Given the description of an element on the screen output the (x, y) to click on. 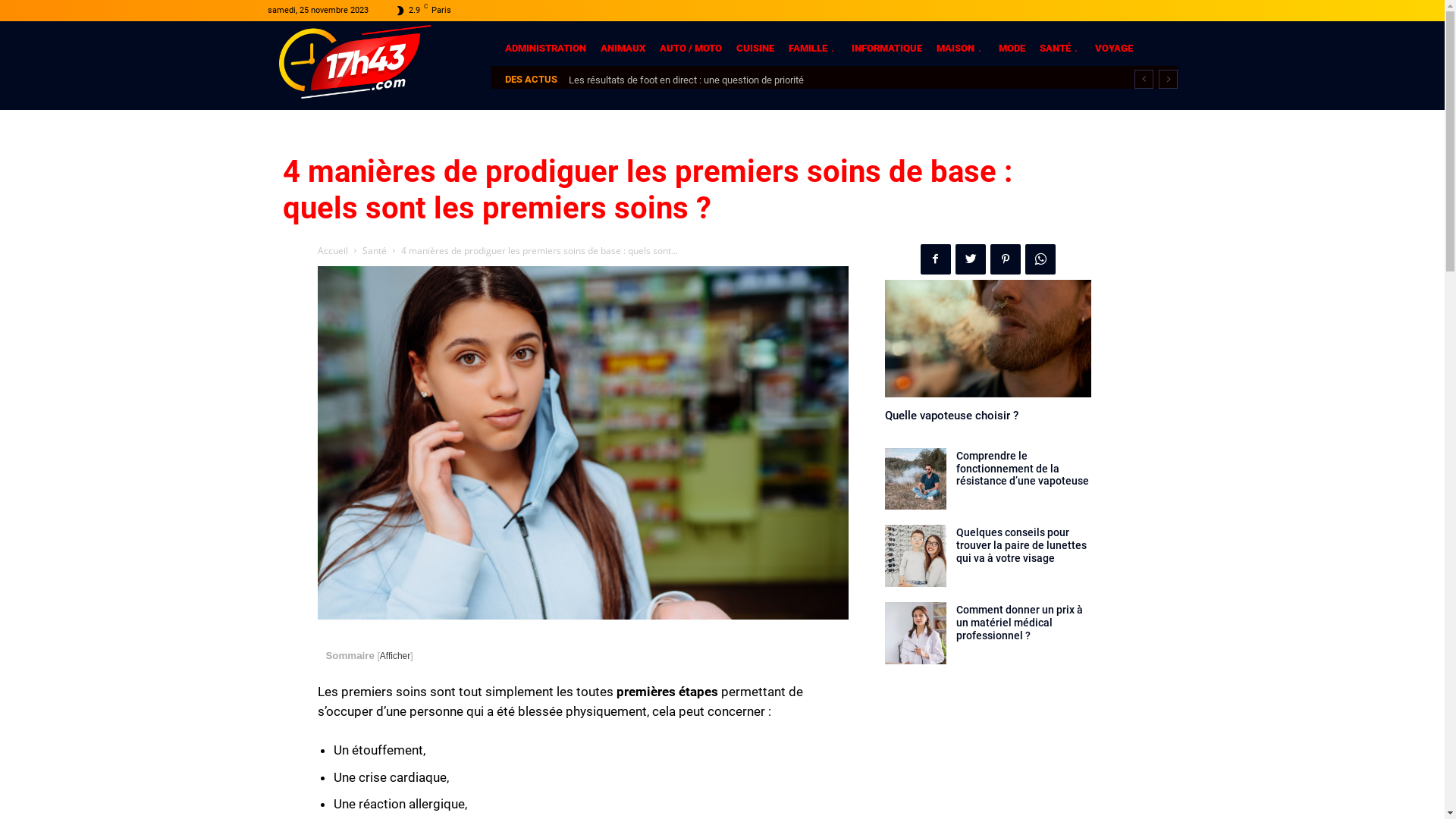
FAMILLE Element type: text (812, 47)
MAISON Element type: text (959, 47)
ADMINISTRATION Element type: text (545, 47)
pharma Element type: hover (581, 442)
Afficher Element type: text (394, 655)
INFORMATIQUE Element type: text (885, 47)
Quelle vapoteuse choisir ? Element type: hover (987, 338)
Accueil Element type: text (331, 250)
ANIMAUX Element type: text (622, 47)
VOYAGE Element type: text (1113, 47)
MODE Element type: text (1010, 47)
Quelle vapoteuse choisir ? Element type: text (950, 415)
CUISINE Element type: text (754, 47)
AUTO / MOTO Element type: text (690, 47)
